Given the description of an element on the screen output the (x, y) to click on. 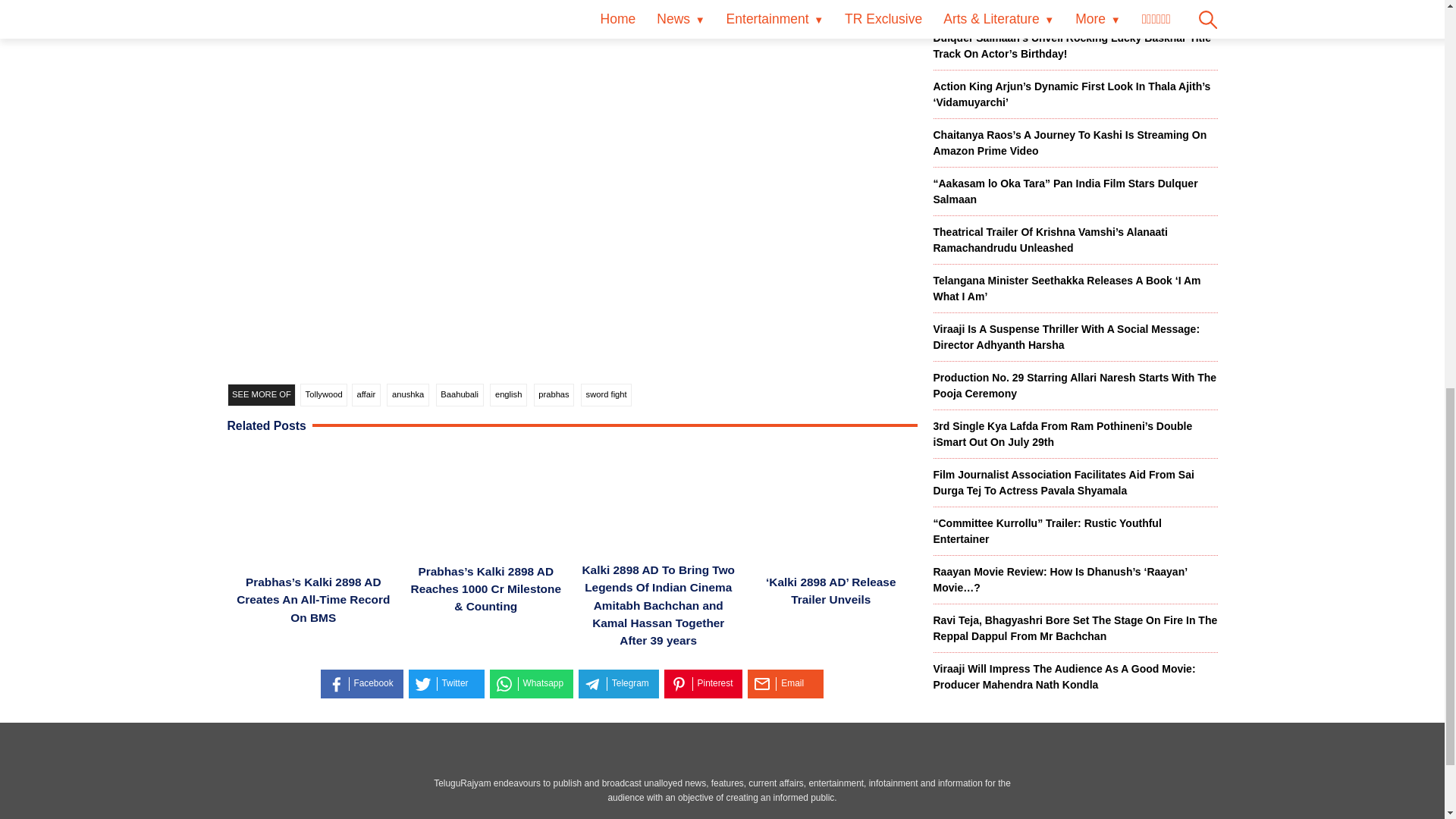
Tollywood (323, 395)
affair (366, 395)
